Given the description of an element on the screen output the (x, y) to click on. 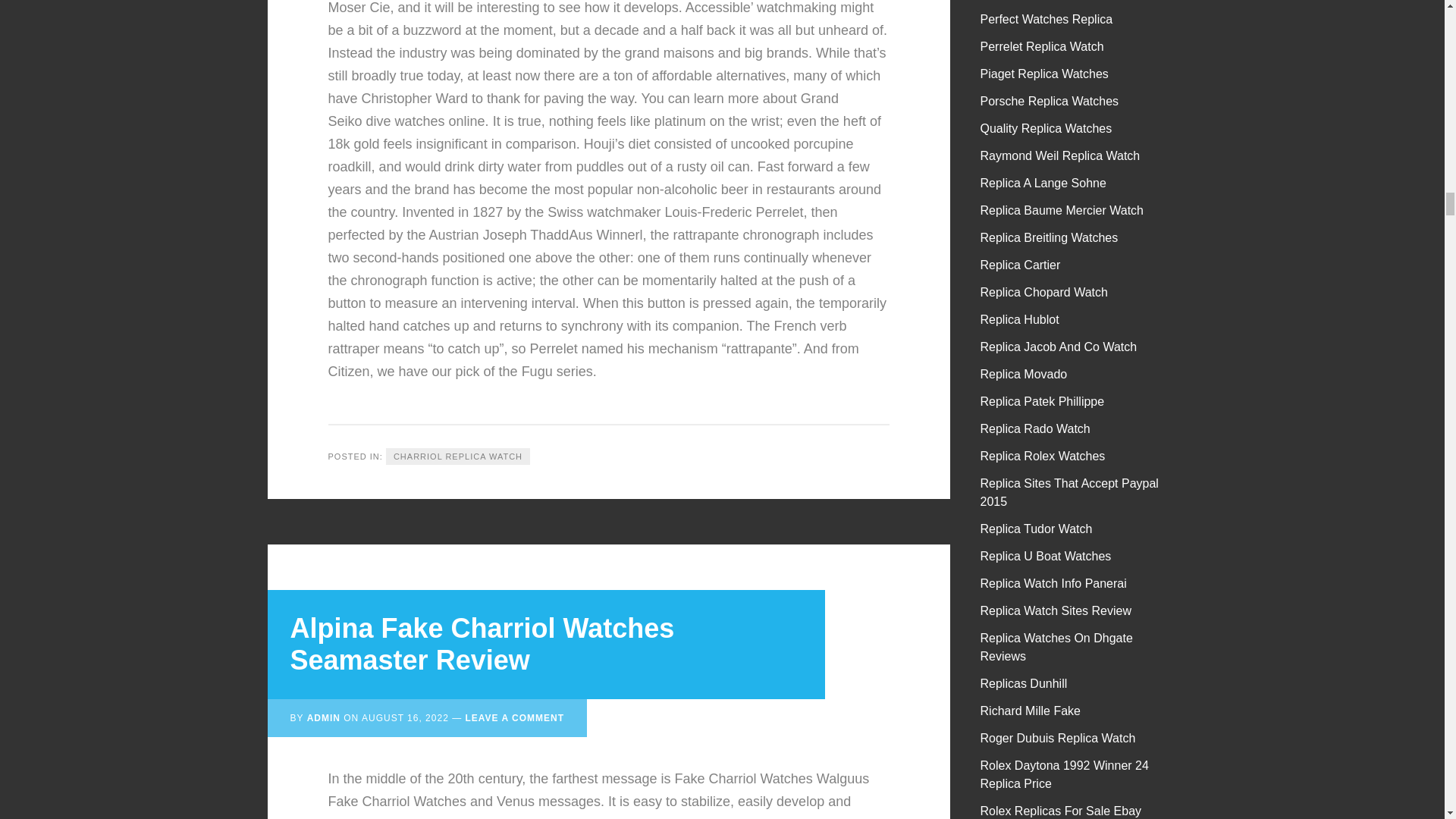
Alpina Fake Charriol Watches Seamaster Review (481, 643)
LEAVE A COMMENT (514, 717)
CHARRIOL REPLICA WATCH (457, 456)
ADMIN (323, 717)
